Given the description of an element on the screen output the (x, y) to click on. 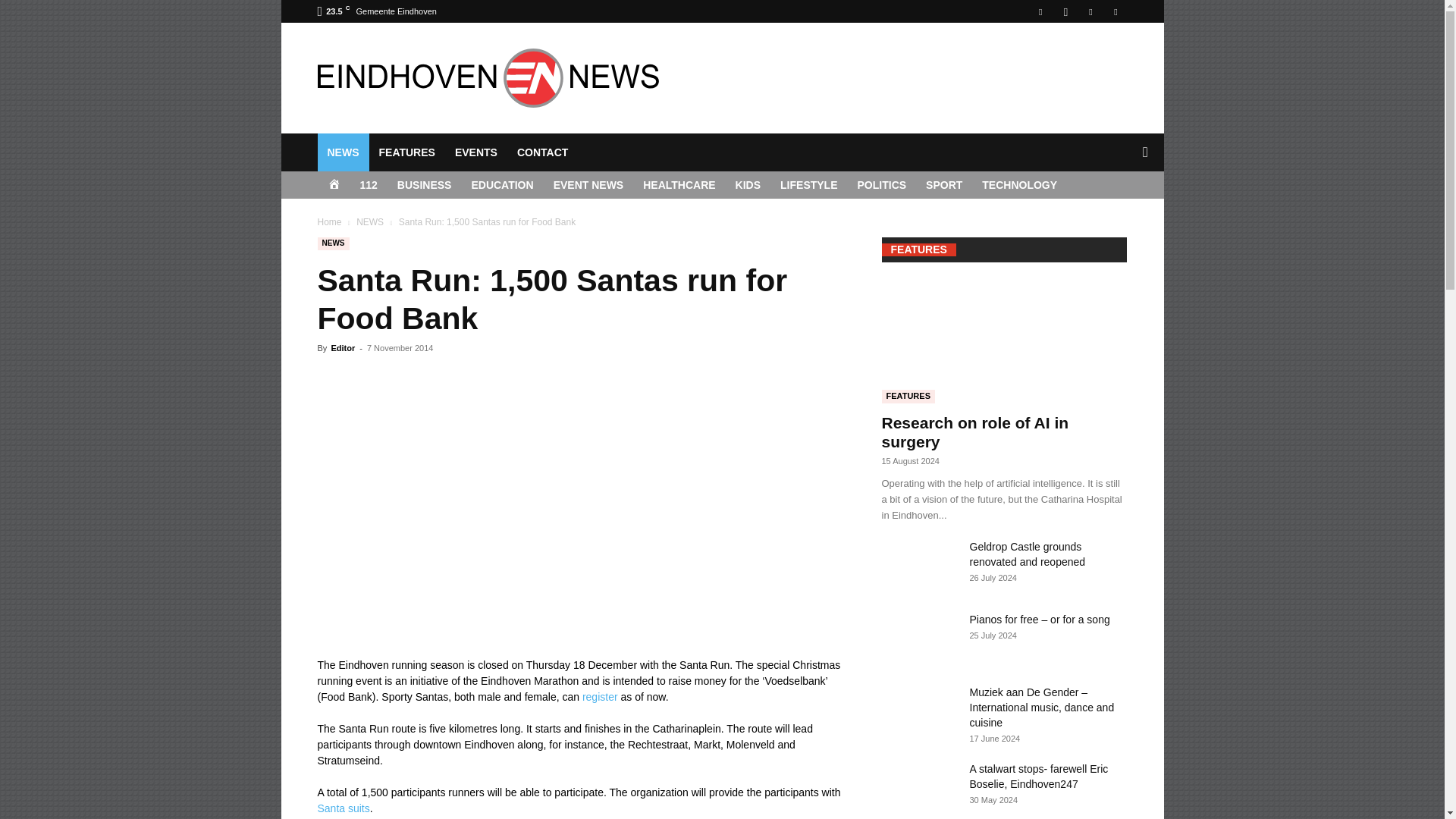
Linkedin (1090, 11)
Twitter (1114, 11)
HEALTHCARE (679, 185)
Facebook (1040, 11)
EVENT NEWS (588, 185)
EVENTS (475, 152)
112 (368, 185)
BUSINESS (424, 185)
FEATURES (406, 152)
